Given the description of an element on the screen output the (x, y) to click on. 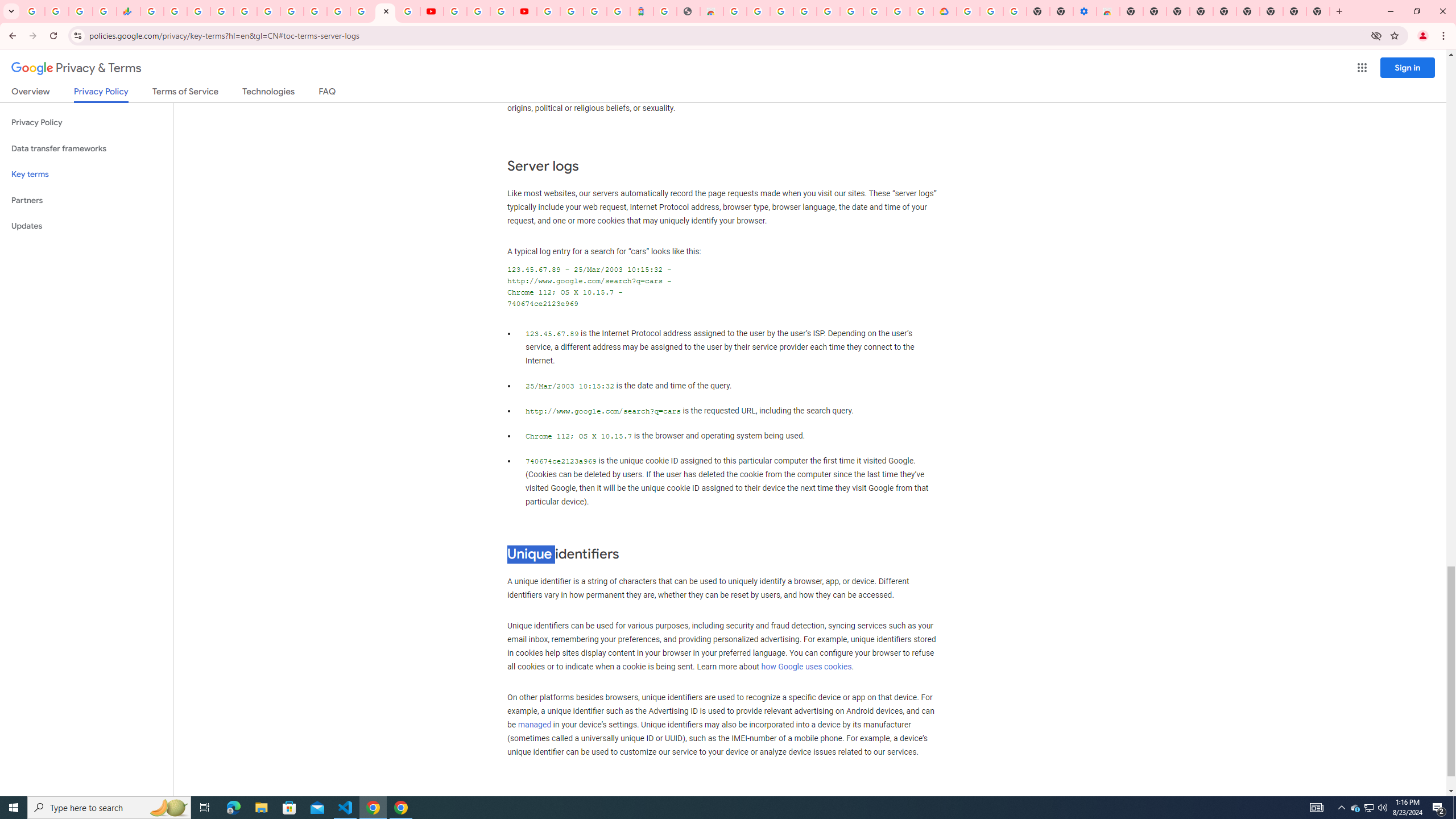
Sign in - Google Accounts (547, 11)
managed (533, 724)
New Tab (1131, 11)
Google Account Help (992, 11)
Create your Google Account (897, 11)
